Given the description of an element on the screen output the (x, y) to click on. 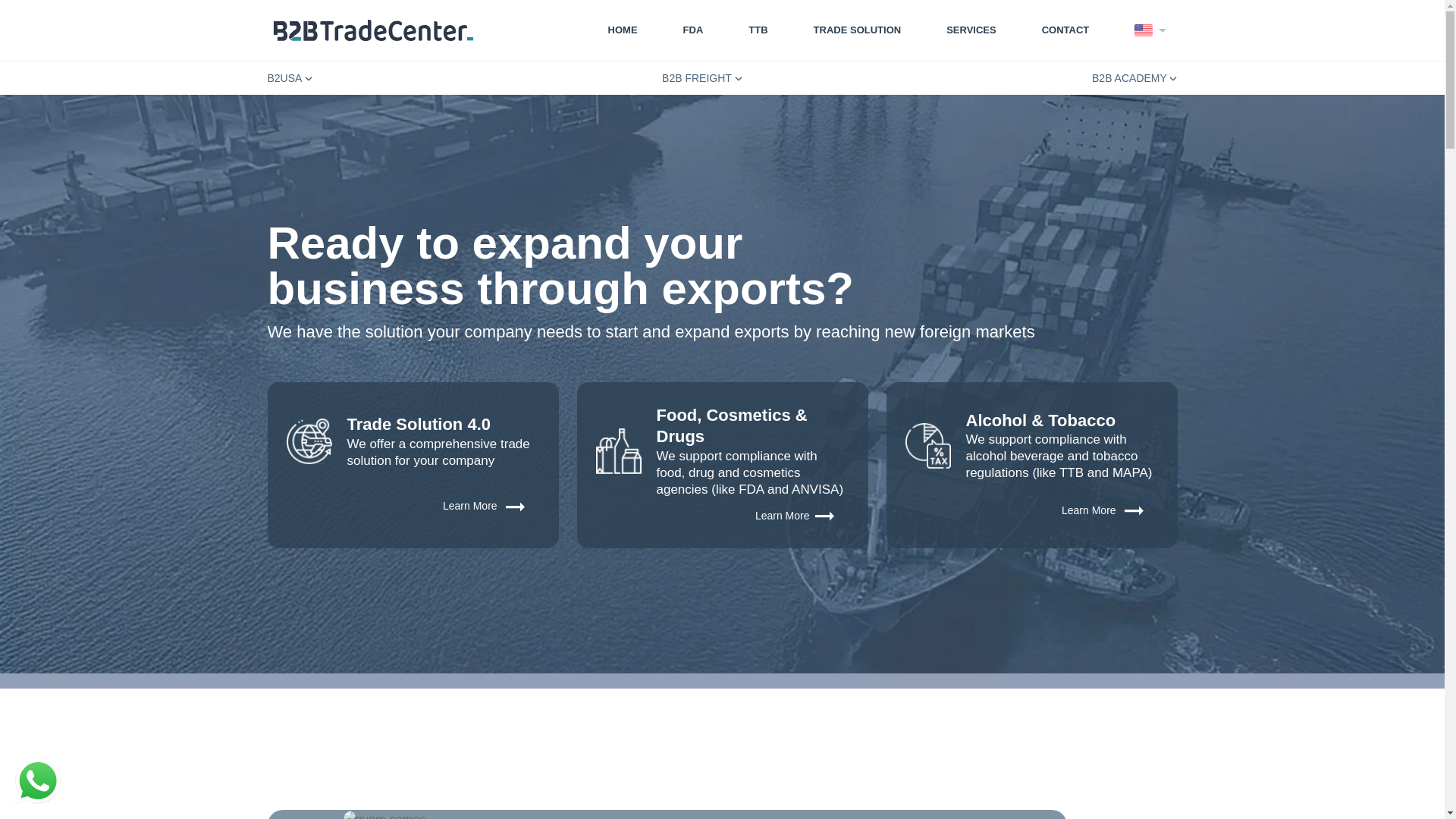
SERVICES Element type: text (971, 30)
B2B ACADEMY Element type: text (1134, 78)
FDA Element type: text (693, 30)
Learn More Element type: text (1031, 510)
Learn More Element type: text (722, 516)
TTB Element type: text (757, 30)
CONTACT Element type: text (1065, 30)
B2B FREIGHT Element type: text (701, 78)
Learn More Element type: text (412, 506)
TRADE SOLUTION Element type: text (857, 30)
HOME Element type: text (618, 30)
B2USA Element type: text (288, 78)
